Given the description of an element on the screen output the (x, y) to click on. 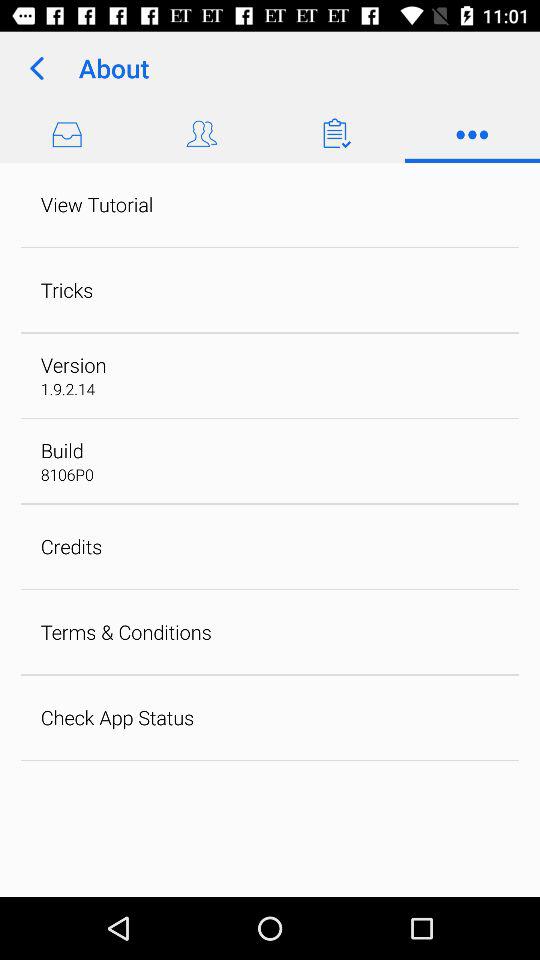
jump to the 8106p0 (66, 474)
